Given the description of an element on the screen output the (x, y) to click on. 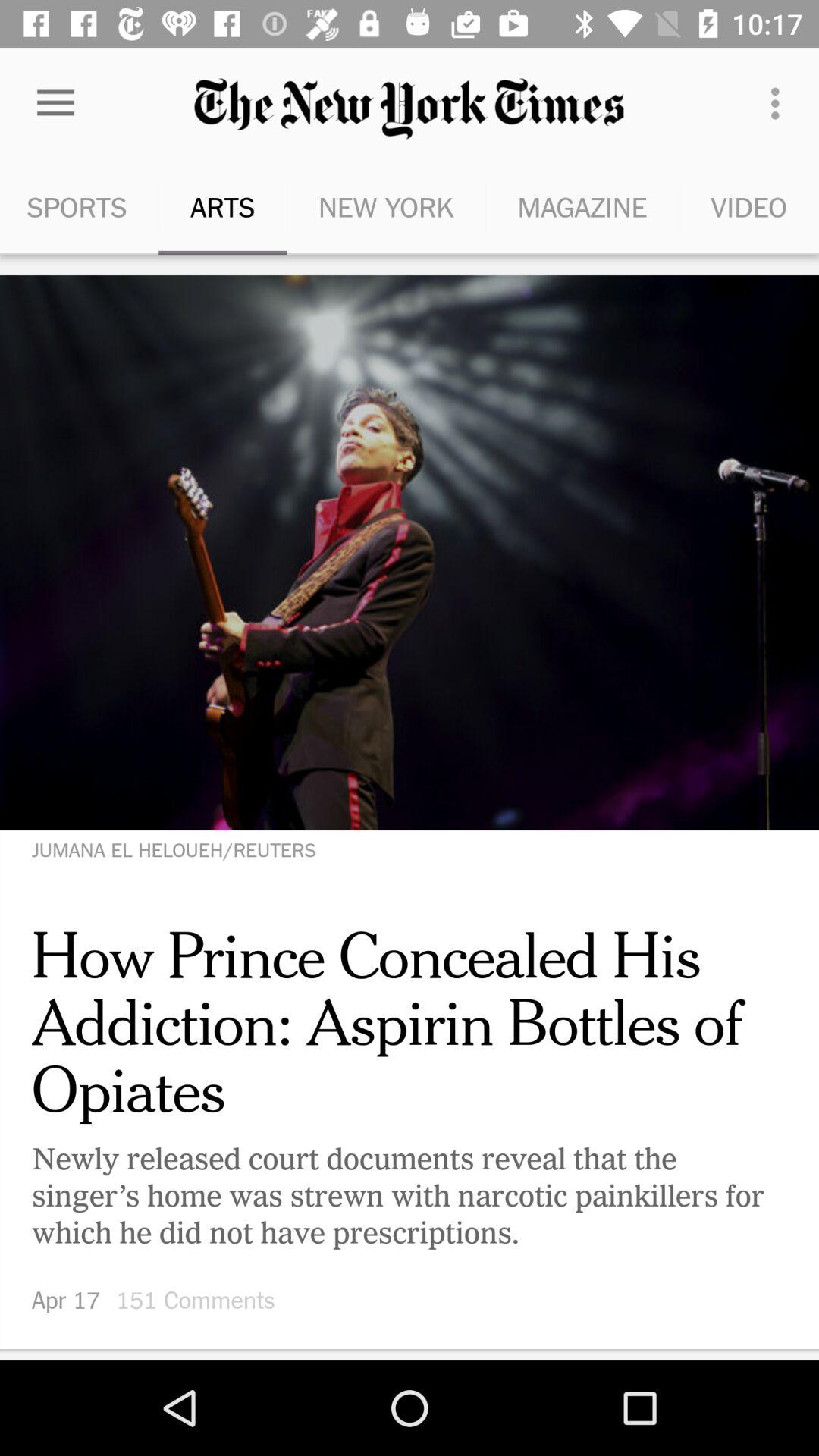
swipe until the arts (222, 206)
